Given the description of an element on the screen output the (x, y) to click on. 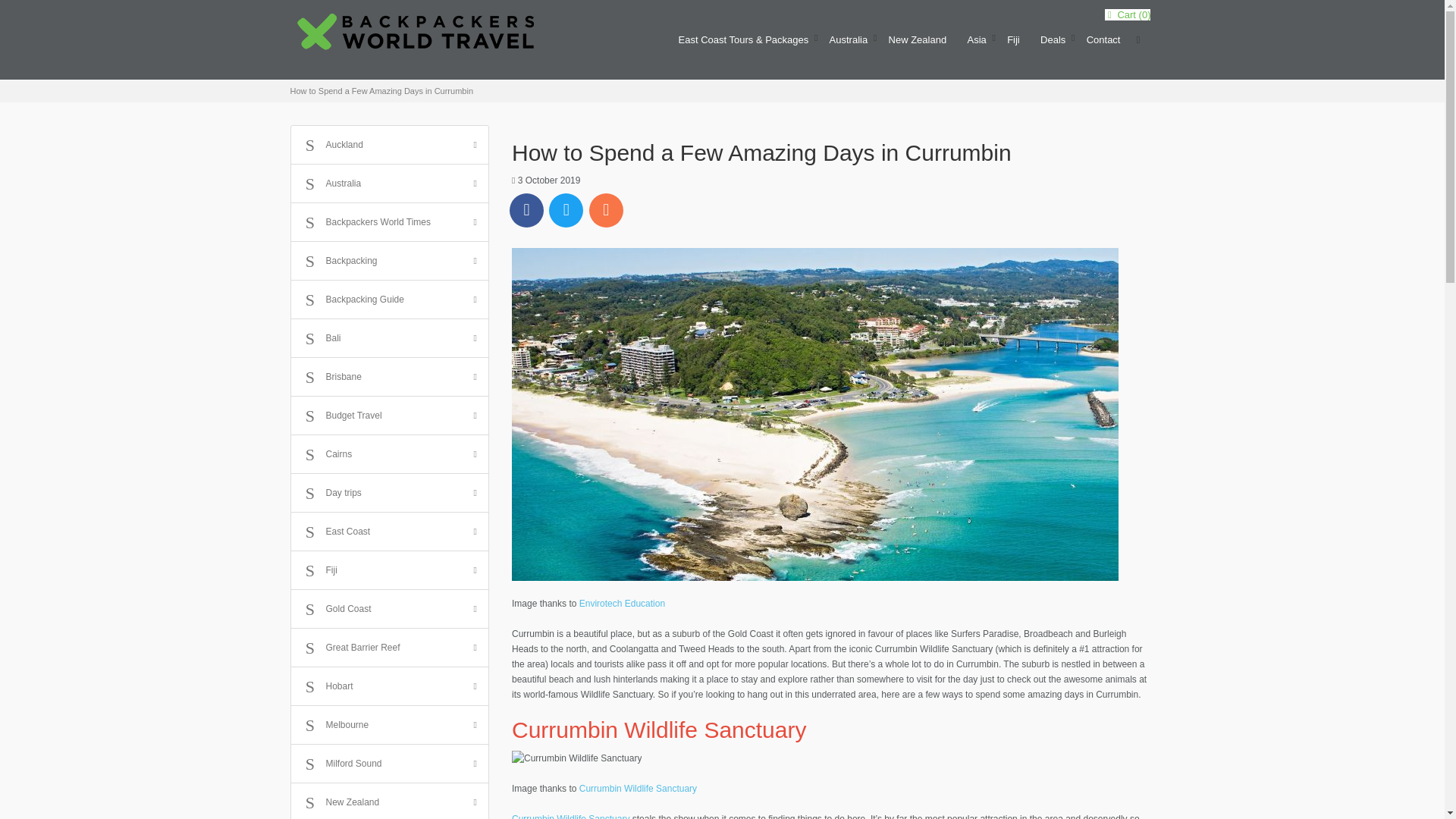
Share by Email (606, 210)
Australia (849, 45)
Contact (1103, 45)
New Zealand (917, 45)
Currumbin Wildlife Sanctuary (577, 758)
Deals (1052, 45)
Australia (849, 45)
Asia (976, 45)
Fiji (1013, 45)
